Given the description of an element on the screen output the (x, y) to click on. 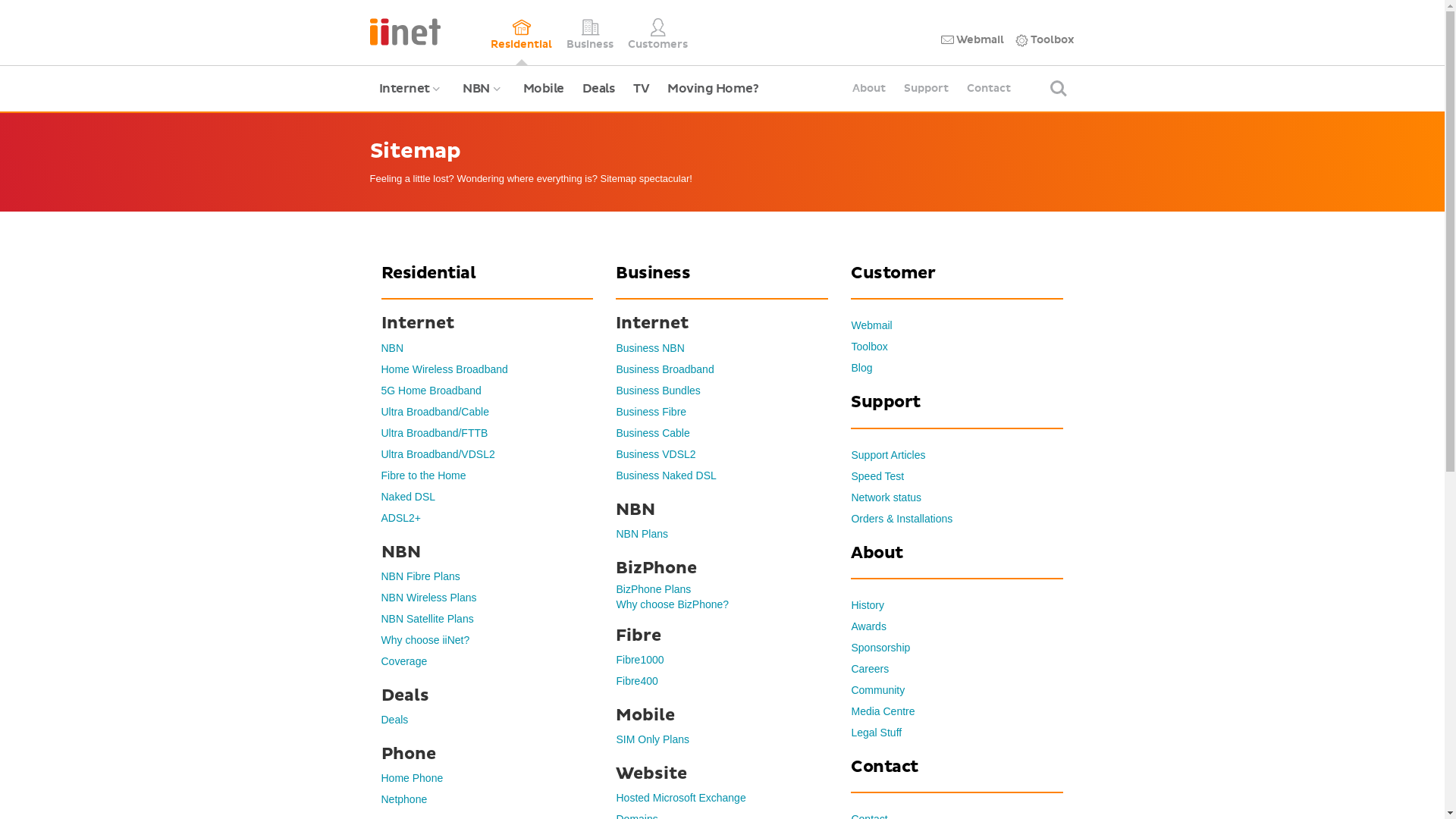
Skip to main content Element type: text (0, 0)
Why choose BizPhone? Element type: text (671, 604)
Fibre1000 Element type: text (639, 659)
Mobile Element type: text (543, 88)
Netphone Element type: text (403, 799)
Media Centre Element type: text (882, 711)
Webmail Element type: text (972, 40)
NBN Satellite Plans Element type: text (426, 618)
Business Broadband Element type: text (664, 369)
NBN Plans Element type: text (641, 533)
Careers Element type: text (869, 668)
NBN Fibre Plans Element type: text (419, 576)
Toolbox Element type: text (1044, 40)
Business VDSL2 Element type: text (655, 454)
Community Element type: text (877, 690)
Naked DSL Element type: text (407, 496)
About Element type: text (868, 88)
Legal Stuff Element type: text (875, 732)
NBN Element type: text (391, 348)
Contact Element type: text (988, 88)
Hosted Microsoft Exchange Element type: text (680, 797)
NBN Wireless Plans Element type: text (428, 597)
Business Bundles Element type: text (657, 390)
ADSL2+ Element type: text (400, 517)
Coverage Element type: text (403, 661)
Home Phone Element type: text (411, 777)
Business Fibre Element type: text (650, 411)
Orders & Installations Element type: text (901, 518)
Fibre to the Home Element type: text (422, 475)
BizPhone Plans Element type: text (652, 589)
Webmail Element type: text (870, 325)
Home Wireless Broadband Element type: text (443, 369)
Blog Element type: text (861, 367)
Ultra Broadband/FTTB Element type: text (433, 432)
Ultra Broadband/Cable Element type: text (434, 411)
Residential Element type: text (521, 32)
Network status Element type: text (885, 497)
5G Home Broadband Element type: text (430, 390)
TV Element type: text (641, 88)
Deals Element type: text (393, 719)
Ultra Broadband/VDSL2 Element type: text (437, 454)
Deals Element type: text (598, 88)
Customers Element type: text (657, 32)
Sponsorship Element type: text (880, 647)
Business Element type: text (589, 32)
Business NBN Element type: text (649, 348)
History Element type: text (867, 605)
Why choose iiNet? Element type: text (424, 639)
Business Naked DSL Element type: text (665, 475)
Fibre400 Element type: text (636, 680)
Awards Element type: text (867, 626)
Moving Home? Element type: text (712, 88)
Support Element type: text (925, 88)
Support Articles Element type: text (887, 454)
iiNet logo Element type: hover (405, 30)
Toolbox Element type: text (868, 346)
Business Cable Element type: text (652, 432)
Speed Test Element type: text (876, 476)
SIM Only Plans Element type: text (651, 739)
